Given the description of an element on the screen output the (x, y) to click on. 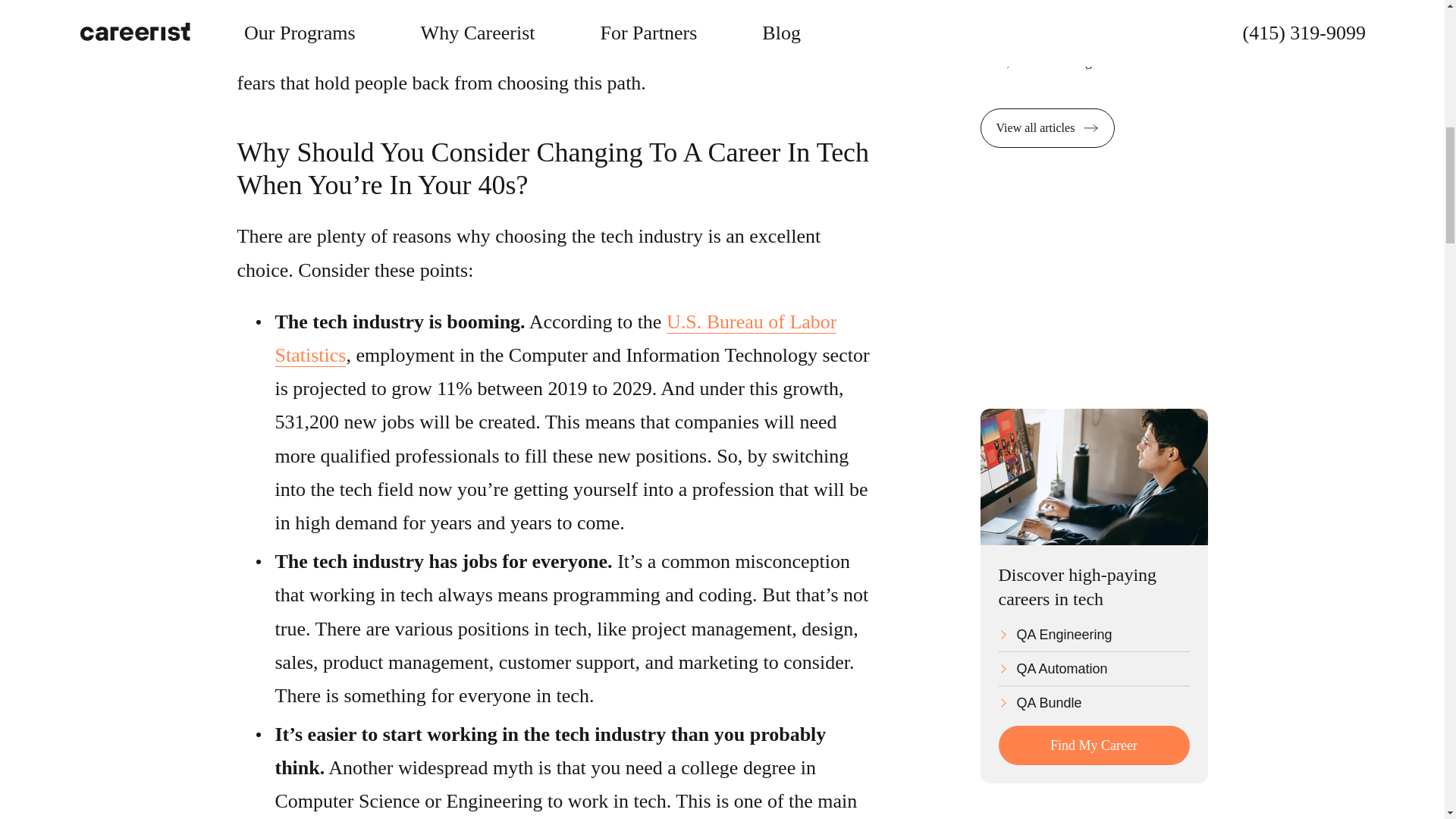
Find My Career (1093, 744)
View all articles (1047, 128)
QA Engineering (1093, 637)
U.S. Bureau of Labor Statistics (555, 338)
QA Bundle (1093, 702)
QA Automation (1093, 672)
